Given the description of an element on the screen output the (x, y) to click on. 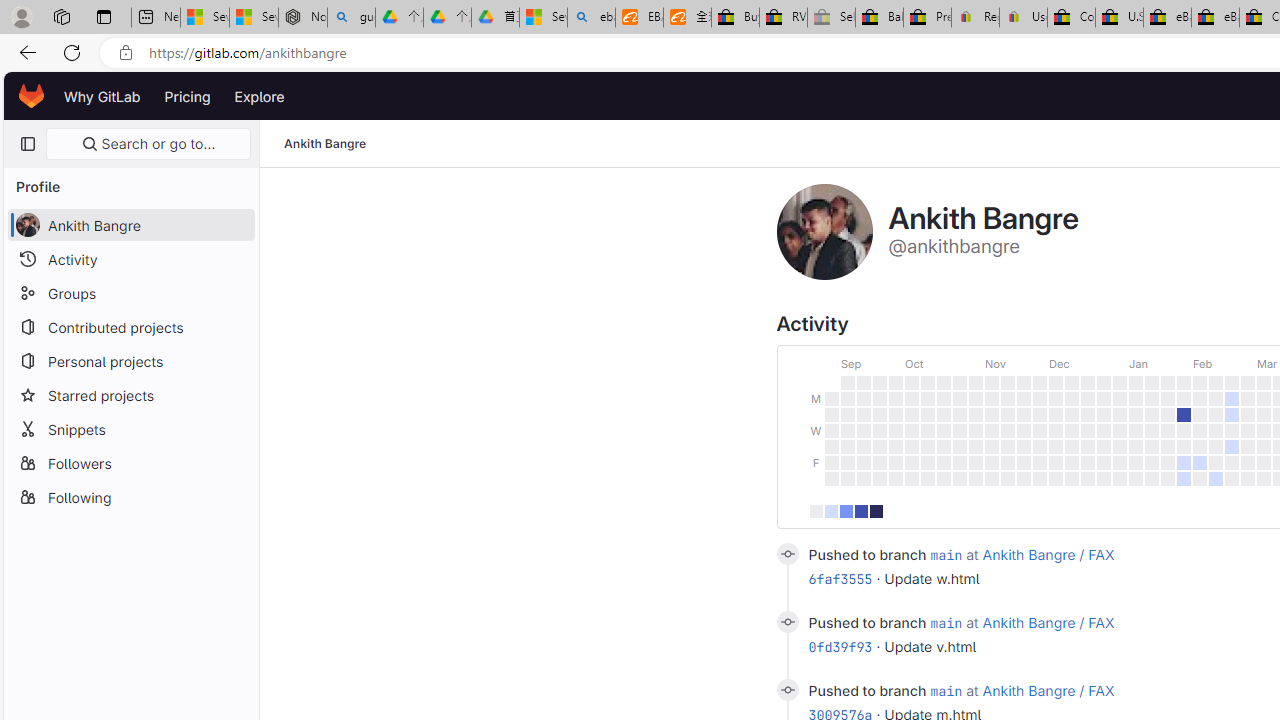
Snippets (130, 428)
20-29 contributions (860, 510)
